Given the description of an element on the screen output the (x, y) to click on. 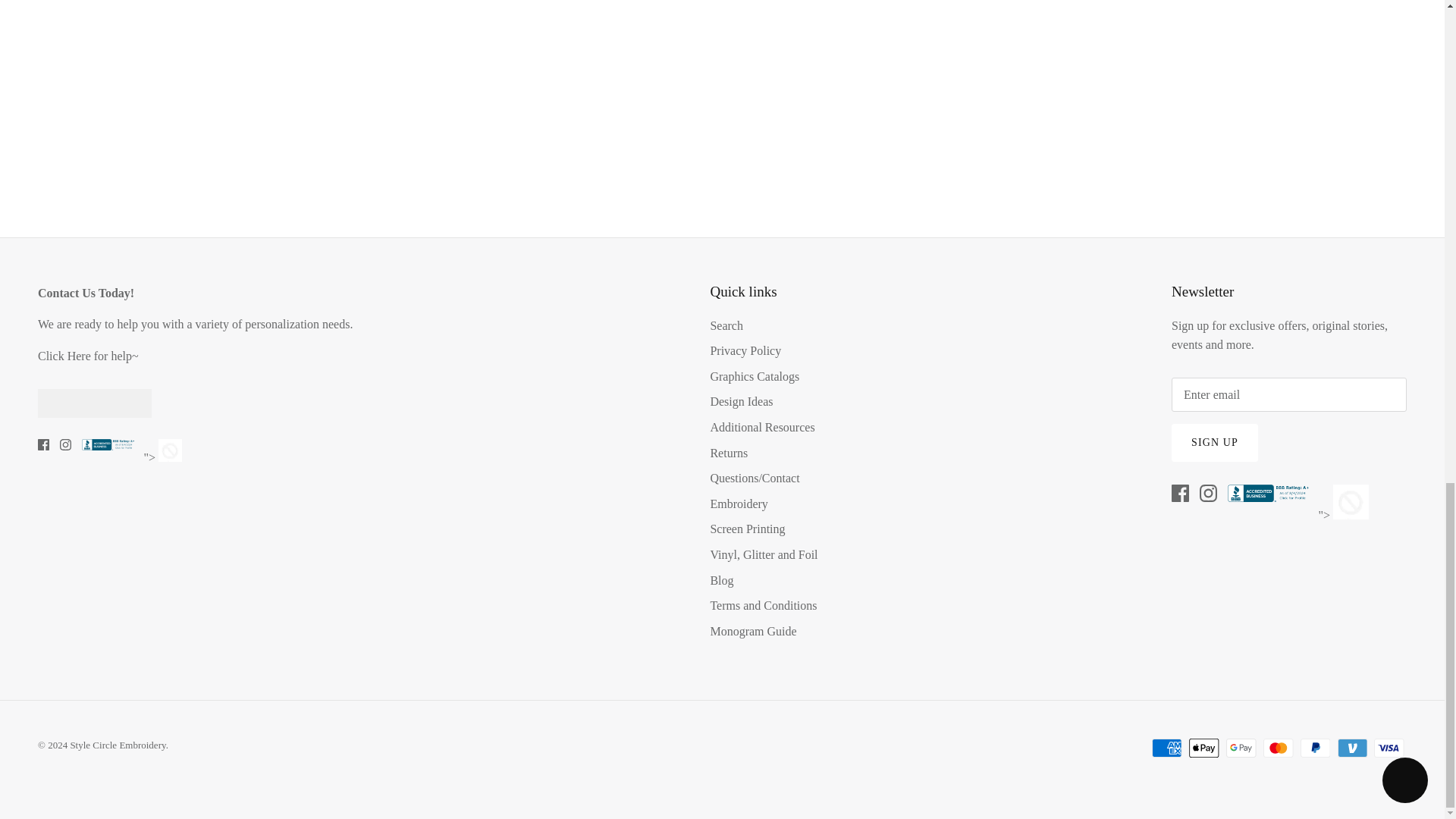
Instagram (1208, 493)
Apple Pay (1203, 747)
Visa (1388, 747)
Mastercard (1277, 747)
Instagram (65, 444)
Facebook (1180, 493)
Facebook (43, 444)
Venmo (1352, 747)
Google Pay (1240, 747)
American Express (1166, 747)
PayPal (1315, 747)
